Given the description of an element on the screen output the (x, y) to click on. 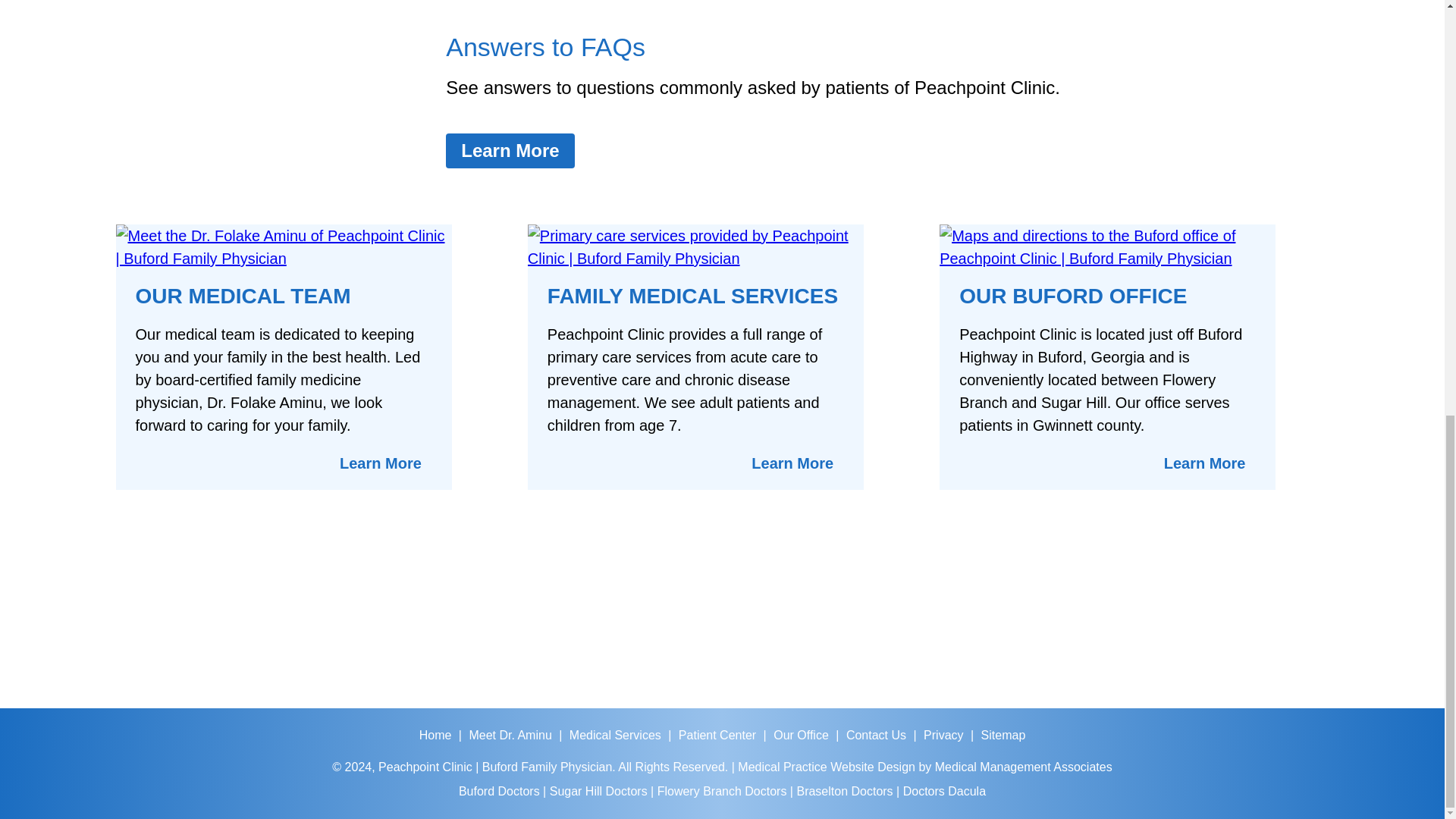
OUR BUFORD OFFICE (1072, 295)
Learn More (791, 463)
Learn More (380, 463)
OUR MEDICAL TEAM (242, 295)
Learn More (509, 150)
FAMILY MEDICAL SERVICES (692, 295)
